Given the description of an element on the screen output the (x, y) to click on. 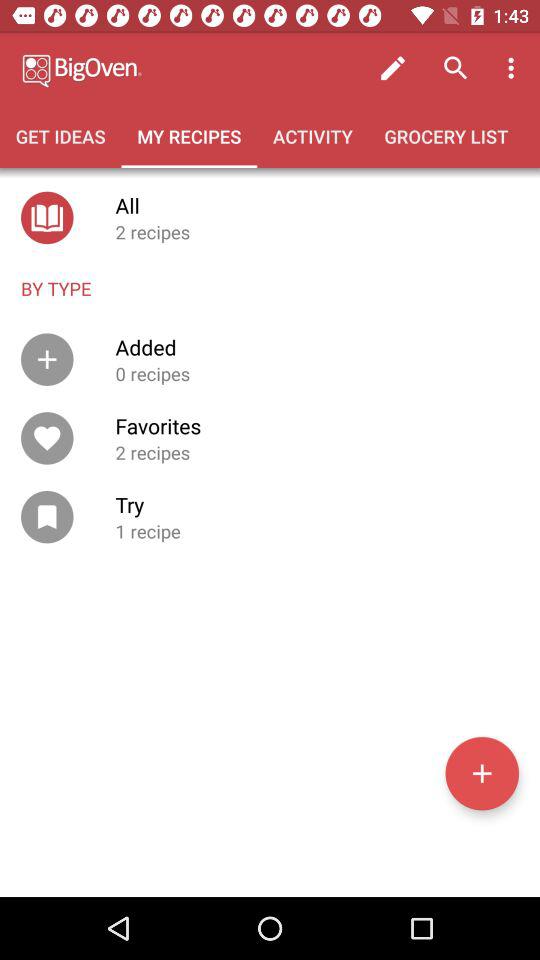
add new recipe (482, 773)
